Given the description of an element on the screen output the (x, y) to click on. 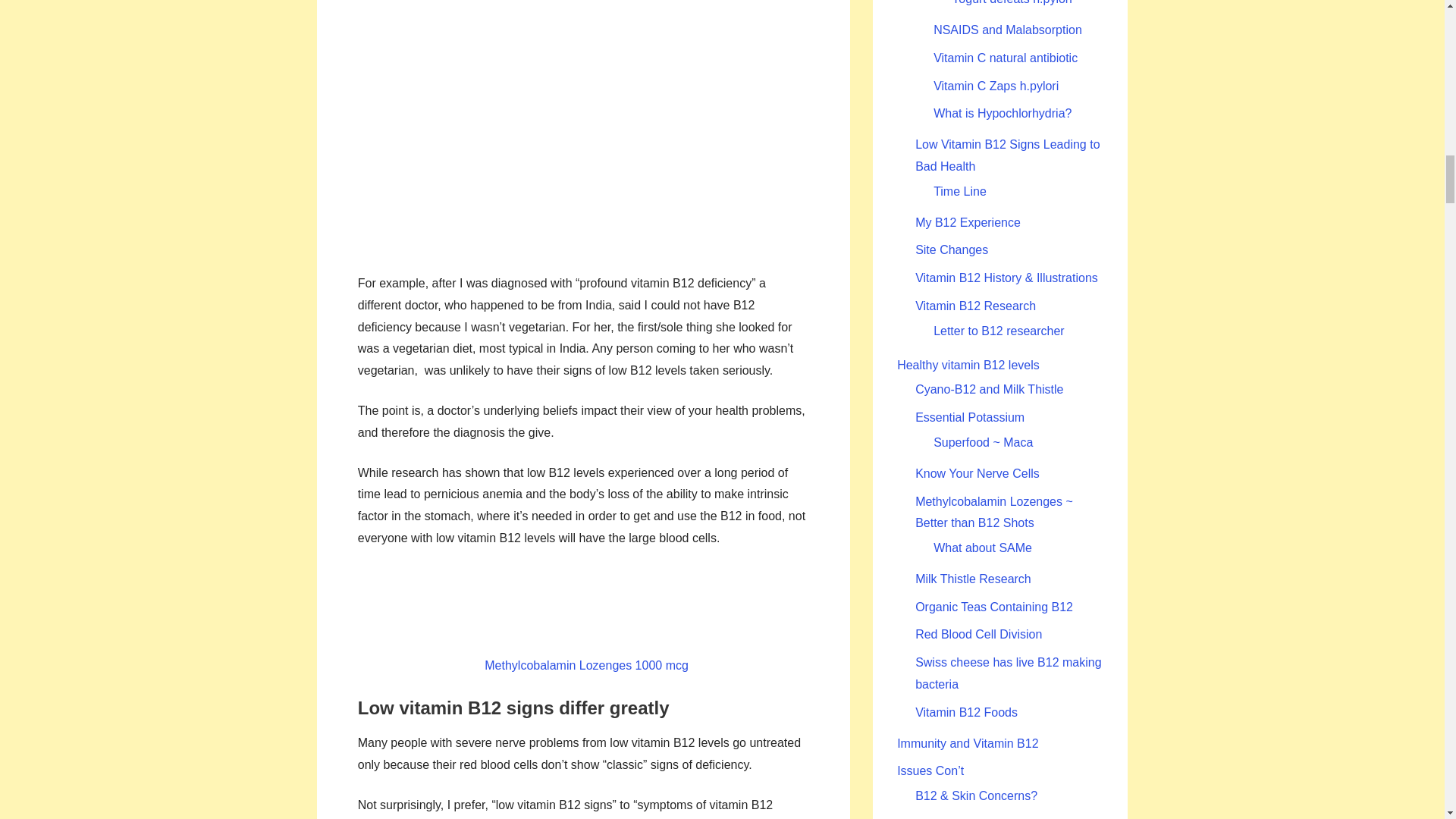
jarrow-1000 mcg-methylcobalamin-lozenges (583, 602)
